Given the description of an element on the screen output the (x, y) to click on. 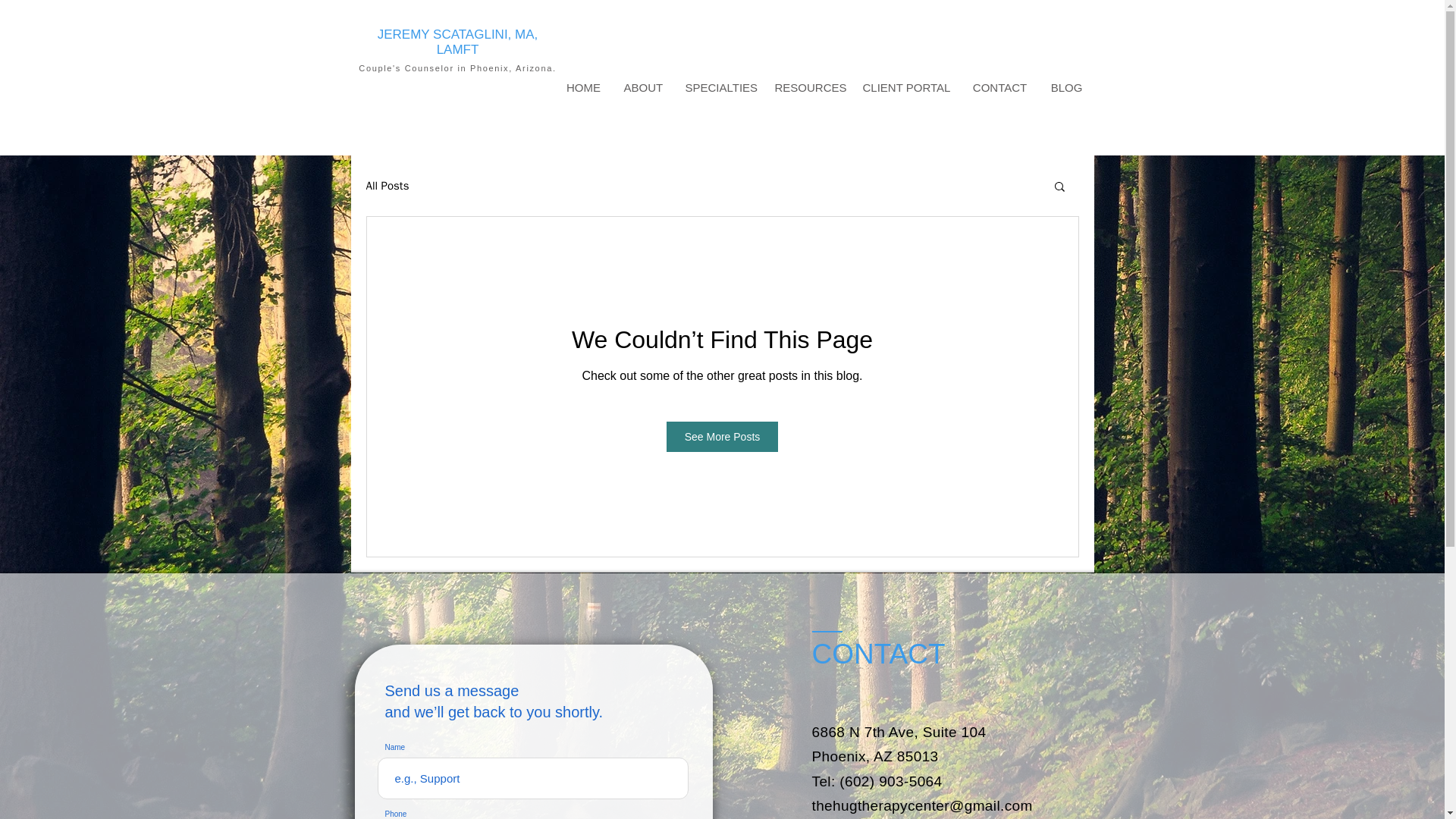
CLIENT PORTAL (904, 87)
CONTACT (999, 87)
ABOUT (643, 87)
All Posts (387, 186)
See More Posts (722, 436)
Couple's Counselor in Phoenix, Arizona. (457, 67)
RESOURCES (806, 87)
BLOG (1066, 87)
JEREMY SCATAGLINI, MA, LAMFT (457, 41)
HOME (583, 87)
SPECIALTIES (717, 87)
